Given the description of an element on the screen output the (x, y) to click on. 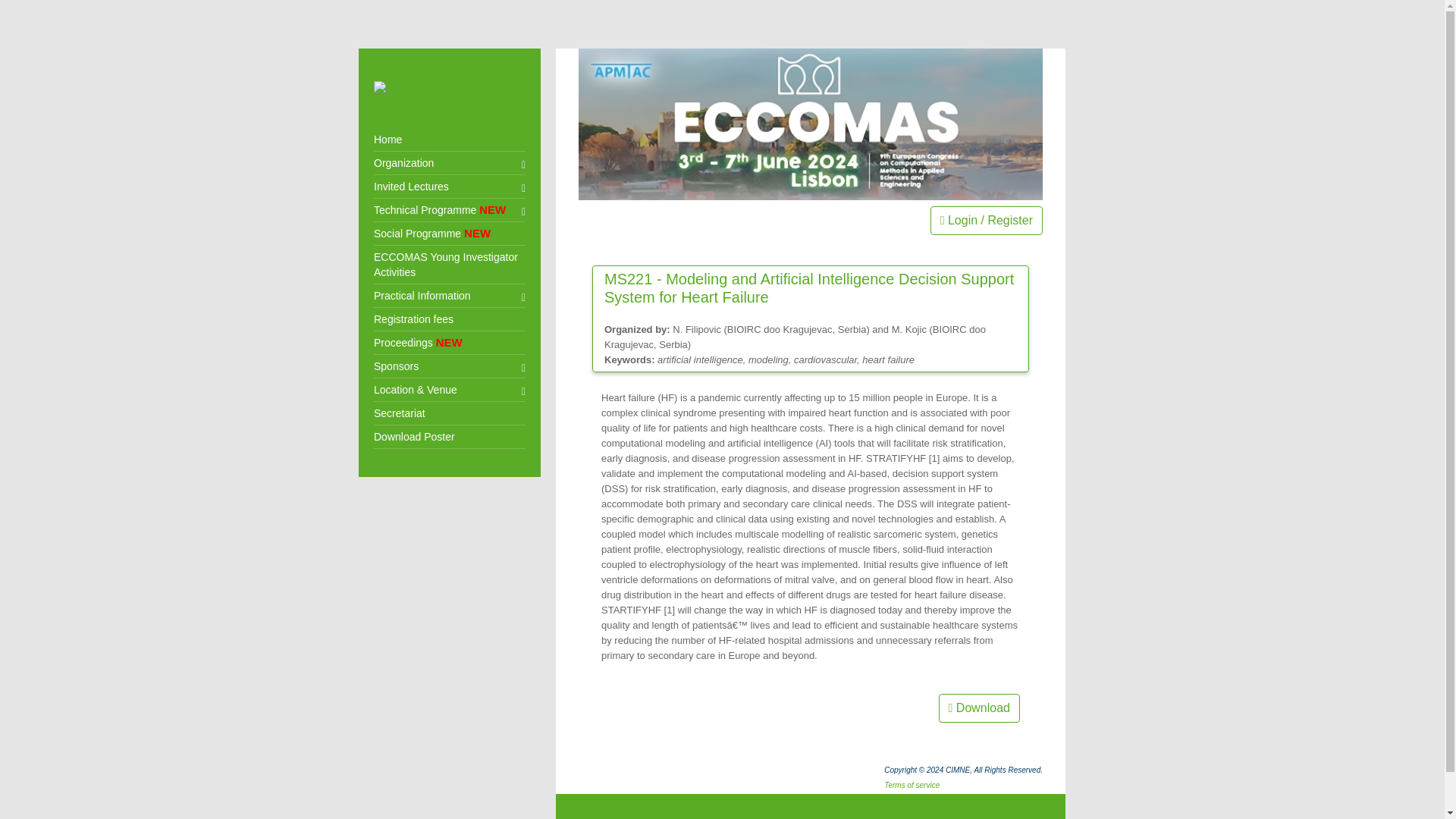
Home (449, 139)
Invited Lectures (449, 187)
Social Programme NEW (449, 210)
ECCOMAS Young Investigator Activities (449, 233)
Organization (449, 264)
Practical Information (449, 163)
Sponsors (449, 295)
Registration fees (449, 366)
Proceedings NEW (449, 319)
